Given the description of an element on the screen output the (x, y) to click on. 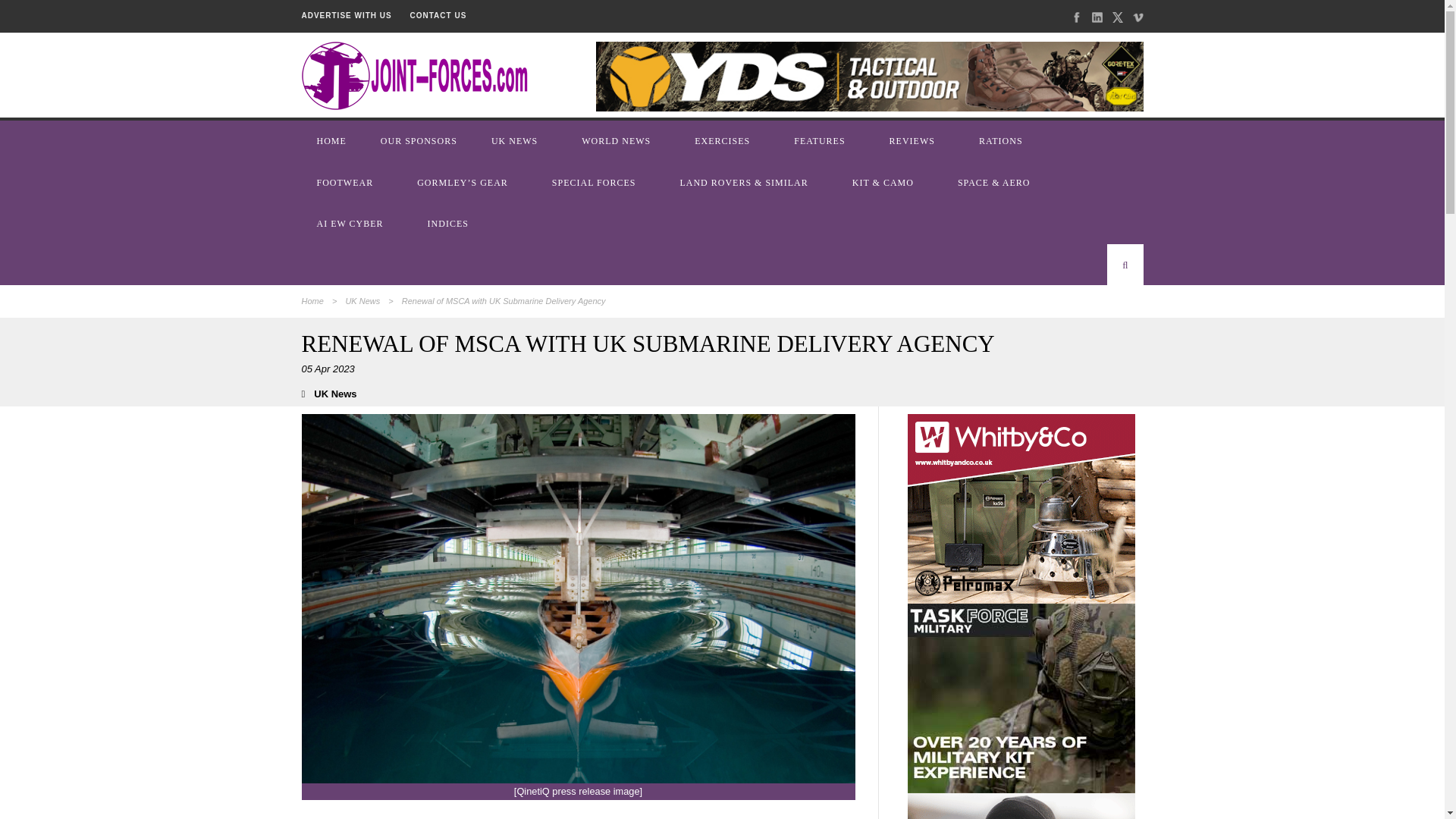
ADVERTISE WITH US (346, 15)
HOME (333, 140)
CONTACT US (438, 15)
